Given the description of an element on the screen output the (x, y) to click on. 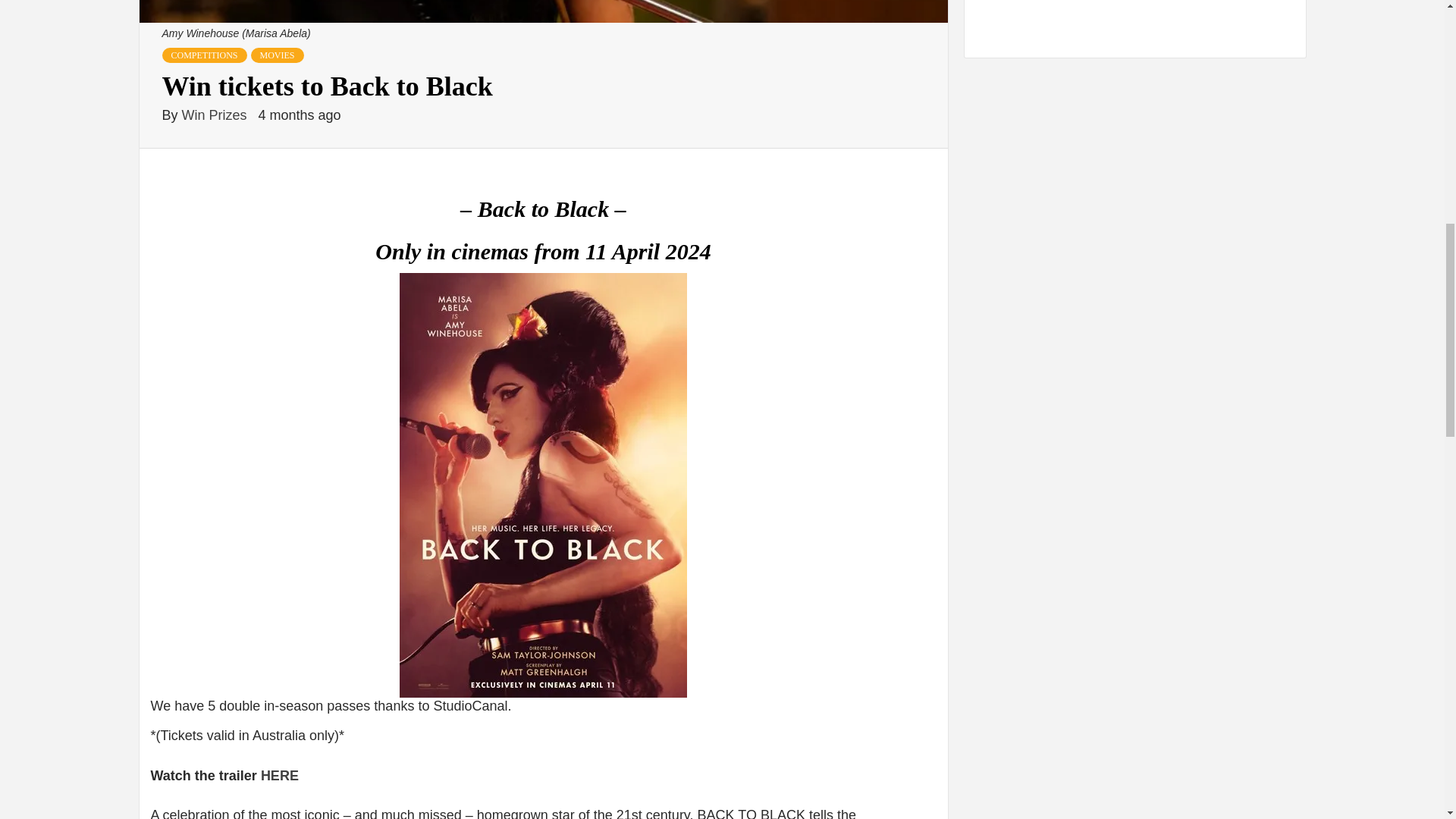
MOVIES (277, 55)
Win Prizes (216, 114)
HERE (279, 775)
Advertisement (1135, 22)
COMPETITIONS (204, 55)
